Given the description of an element on the screen output the (x, y) to click on. 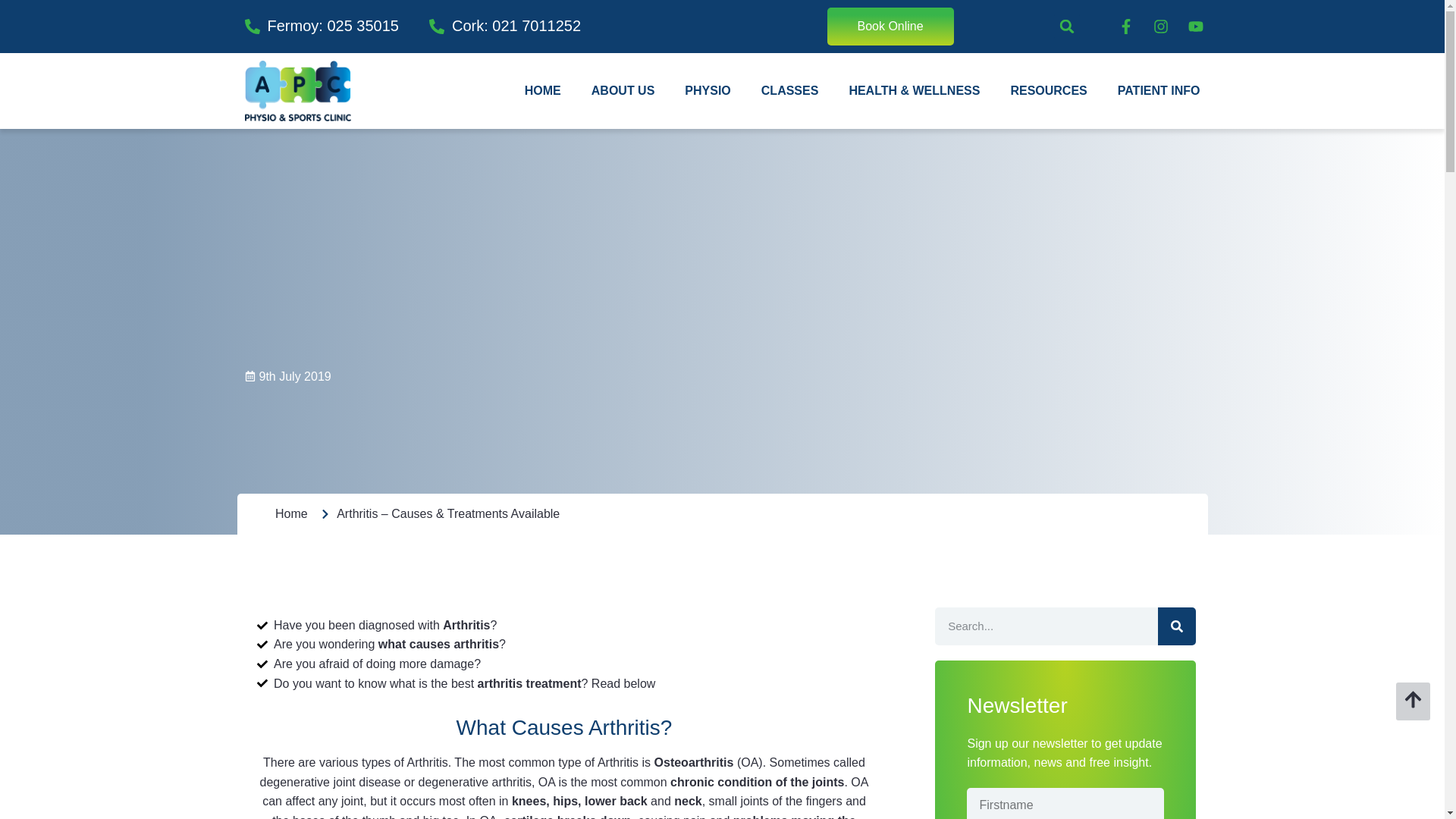
Book Online (890, 26)
Cork: 021 7011252 (504, 26)
ABOUT US (623, 90)
Fermoy: 025 35015 (320, 26)
